Given the description of an element on the screen output the (x, y) to click on. 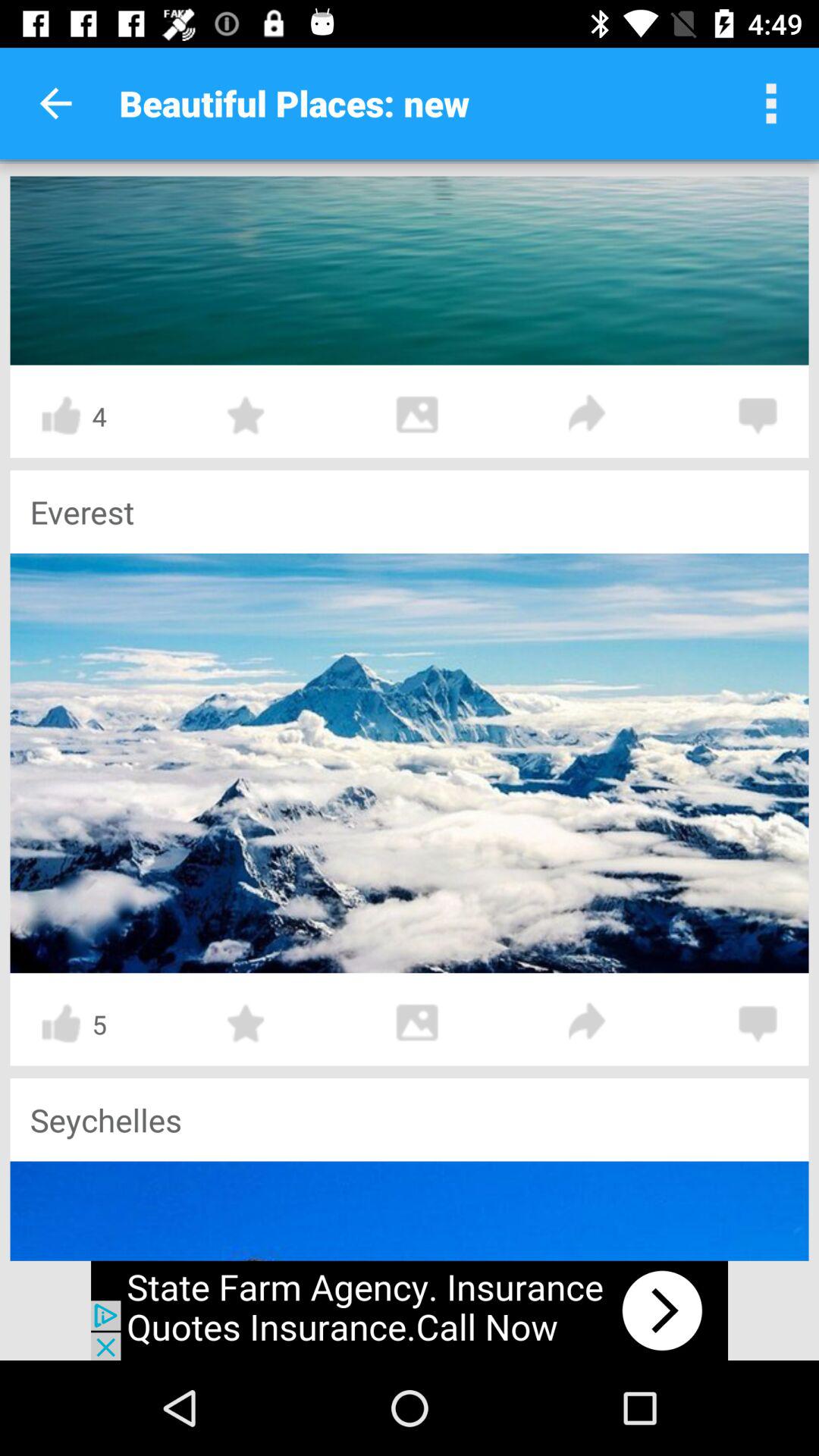
add comment (757, 1023)
